Given the description of an element on the screen output the (x, y) to click on. 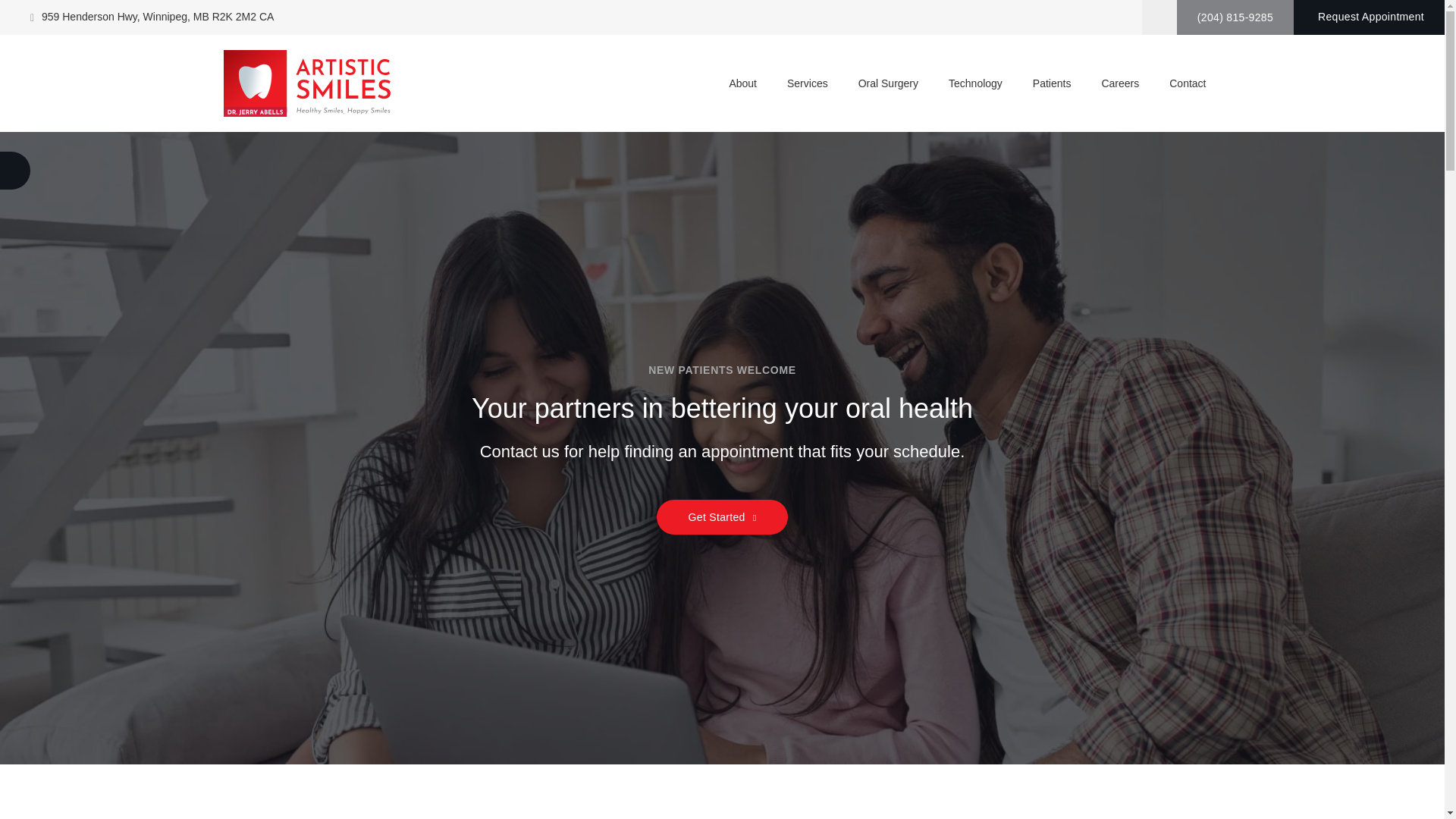
About Element type: text (742, 83)
Request Appointment Element type: text (1368, 17)
Welcoming New Patients, Winnipeg Dentists Element type: hover (722, 447)
959 Henderson Hwy, Winnipeg, MB R2K 2M2 CA Element type: text (151, 16)
Contact Element type: text (1187, 83)
(204) 815-9285 Element type: text (1234, 17)
Services Element type: text (807, 83)
Careers Element type: text (1119, 83)
Oral Surgery Element type: text (888, 83)
Open Search Box Element type: text (1159, 17)
Home Element type: hover (305, 83)
Technology Element type: text (975, 83)
Accessible Version Element type: text (15, 170)
Patients Element type: text (1051, 83)
Get Started Element type: text (722, 516)
